Given the description of an element on the screen output the (x, y) to click on. 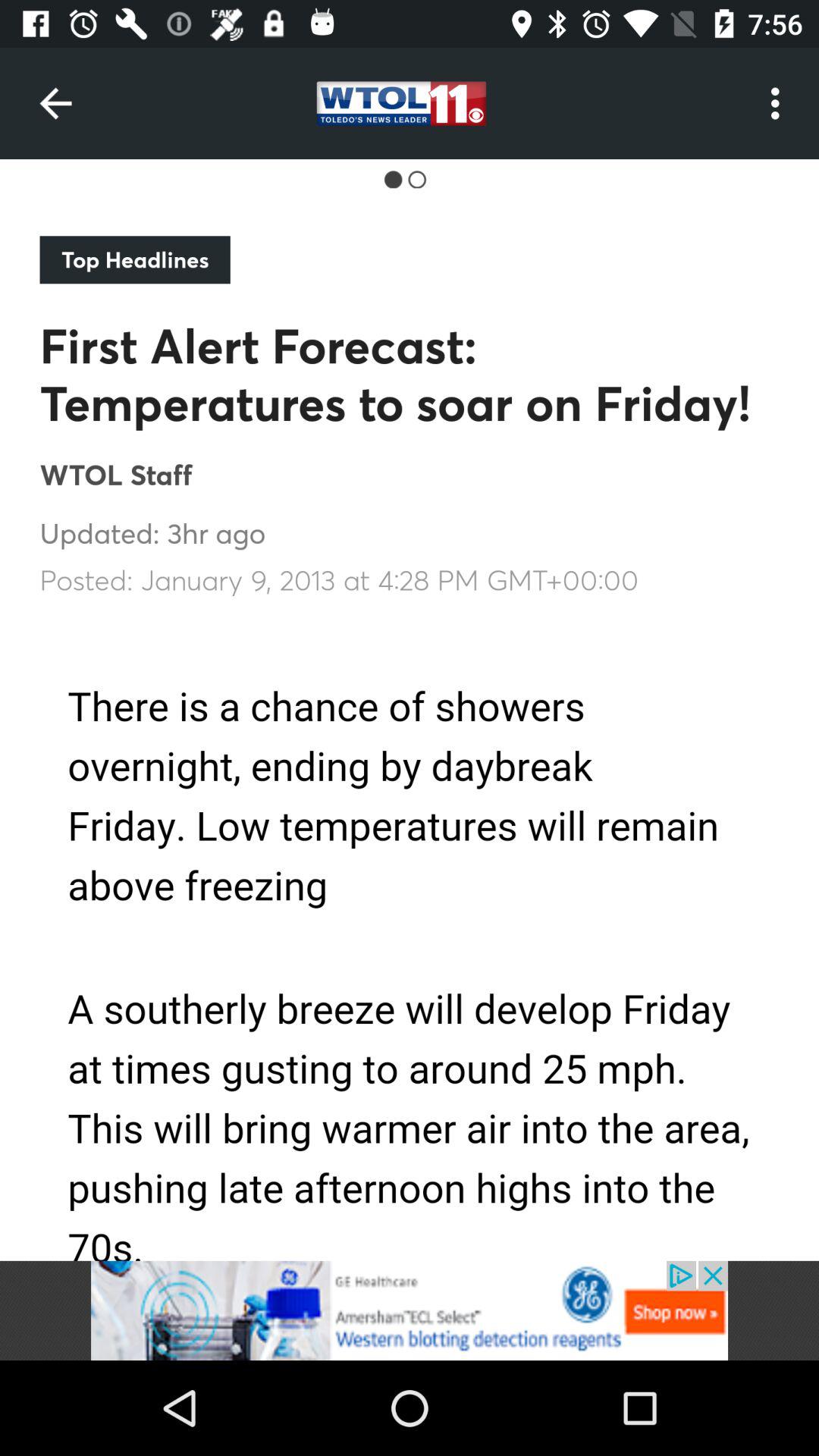
close option (409, 1310)
